Given the description of an element on the screen output the (x, y) to click on. 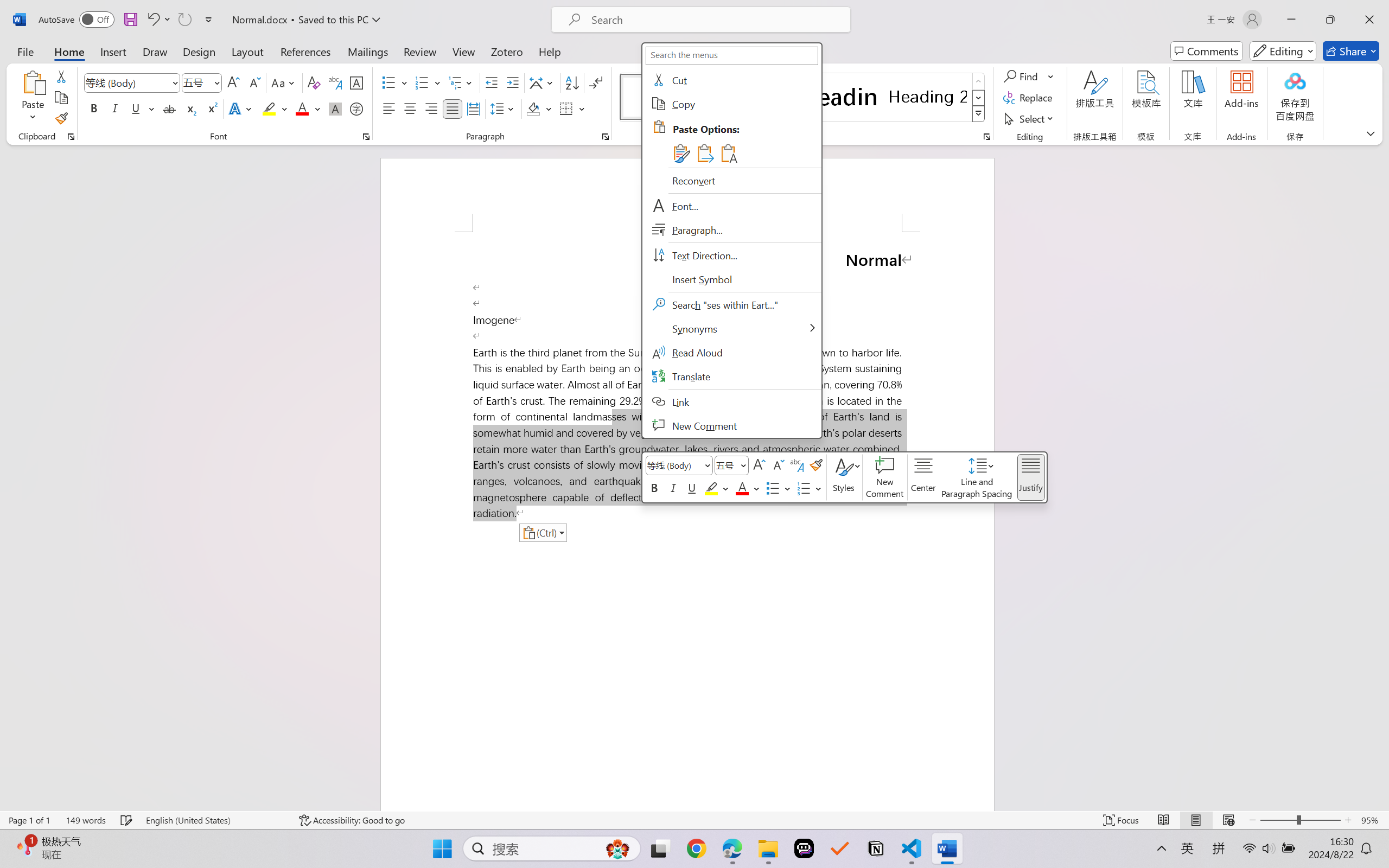
Keep Text Only (728, 152)
Can't Repeat (184, 19)
Merge Formatting (703, 152)
Poe (804, 848)
Cut (730, 80)
Keep Source Formatting (679, 152)
Show/Hide Editing Marks (595, 82)
